Given the description of an element on the screen output the (x, y) to click on. 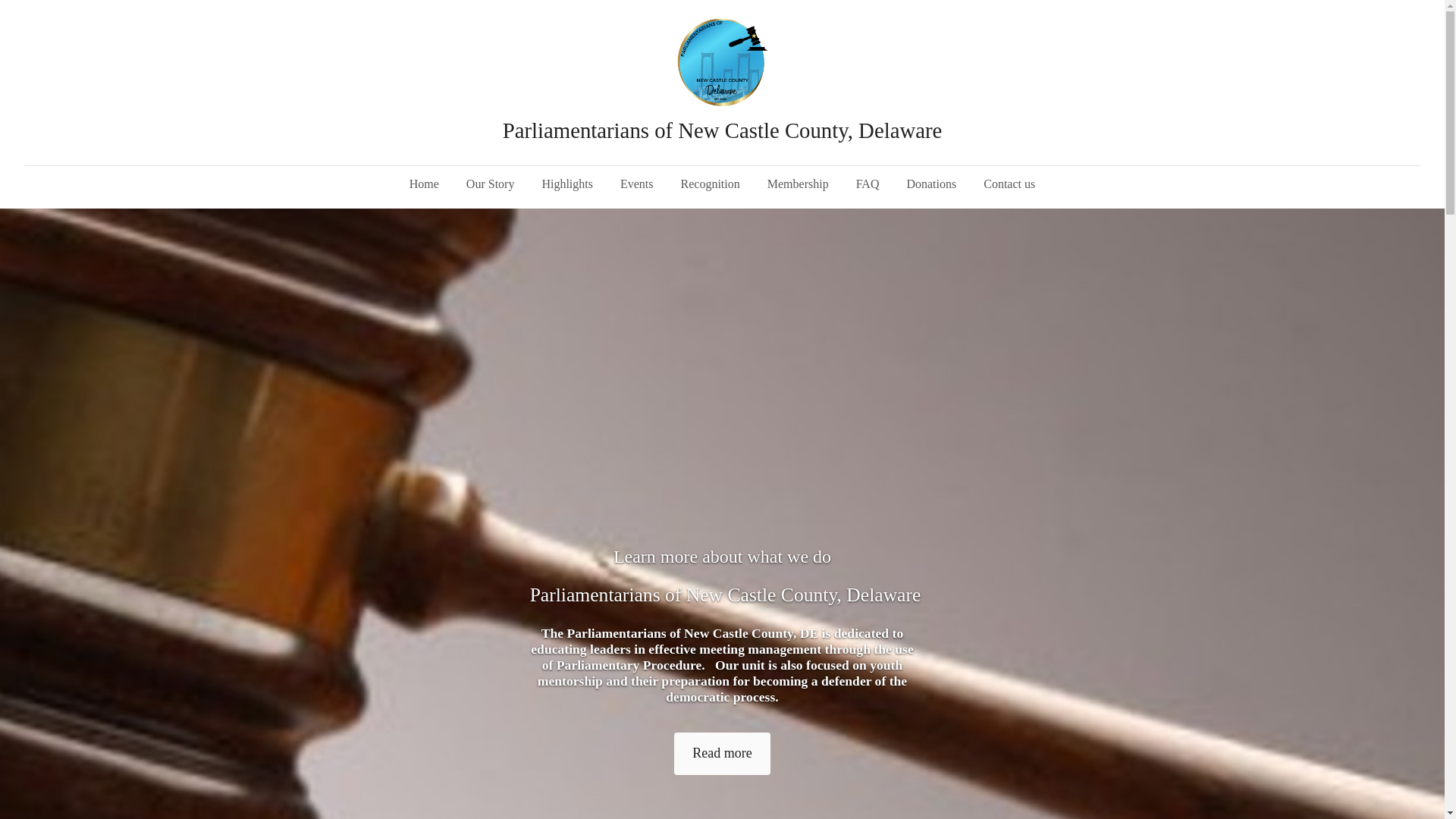
Membership (798, 183)
Contact us (1008, 183)
Our Story (490, 183)
Donations (930, 183)
Highlights (567, 183)
Parliamentarians of New Castle County, Delaware (722, 128)
Home (424, 183)
Read more (722, 753)
Recognition (710, 183)
Events (636, 183)
FAQ (867, 183)
